Given the description of an element on the screen output the (x, y) to click on. 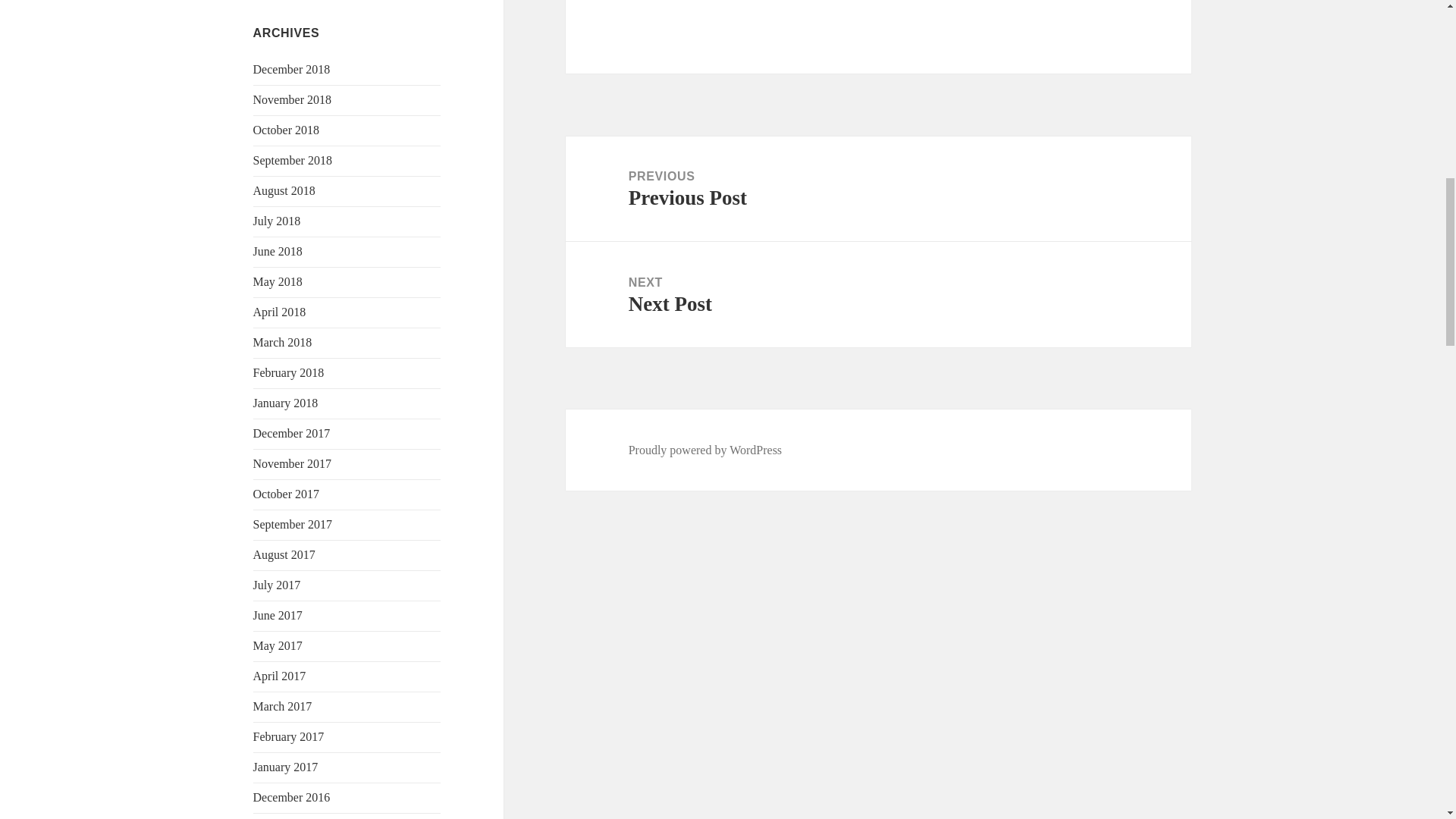
April 2017 (279, 675)
January 2018 (285, 402)
December 2017 (291, 432)
October 2017 (286, 493)
November 2017 (292, 463)
September 2017 (292, 523)
December 2016 (291, 797)
January 2017 (285, 766)
May 2018 (277, 281)
June 2017 (277, 615)
